Given the description of an element on the screen output the (x, y) to click on. 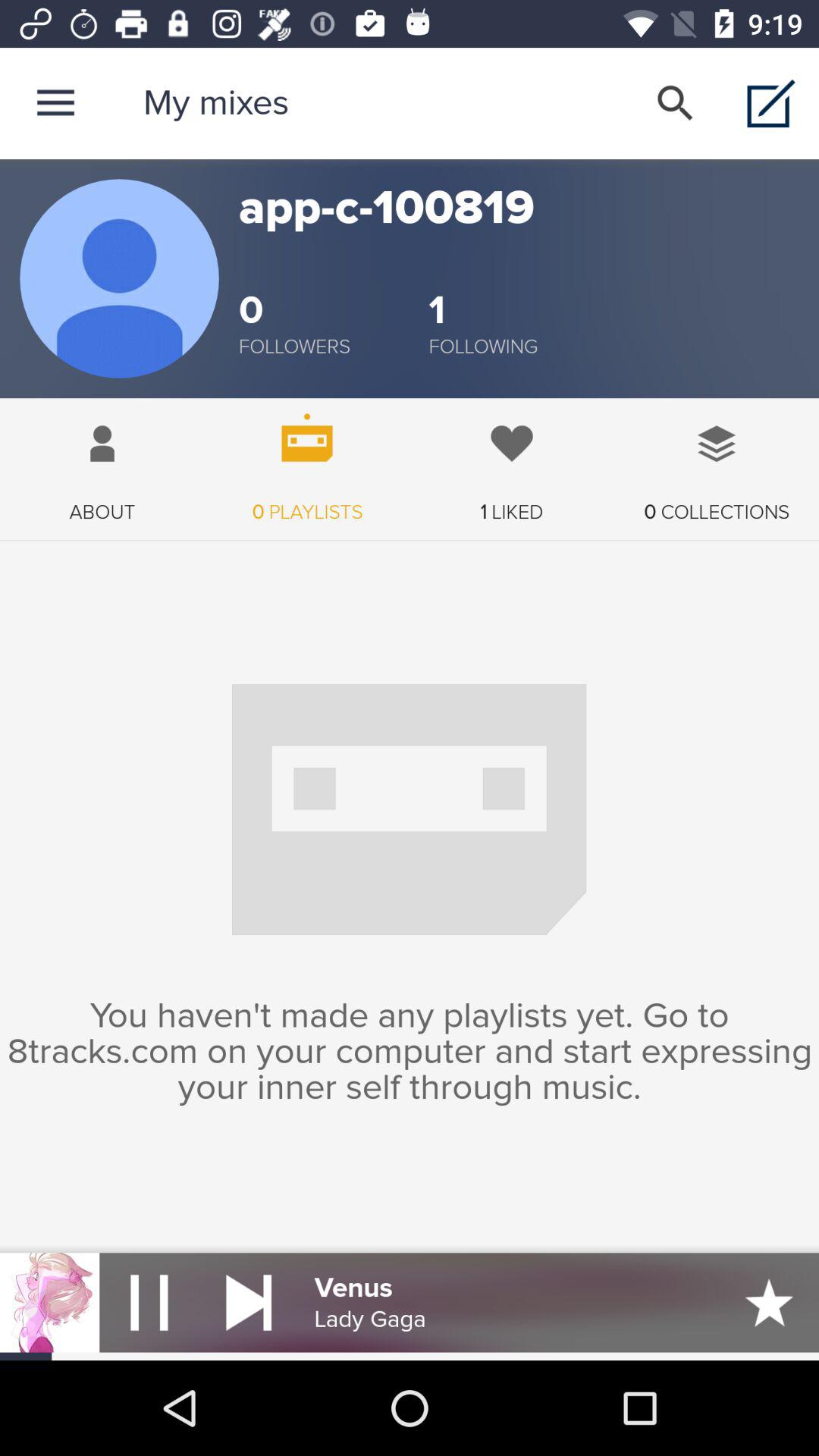
turn on icon below 0 item (483, 346)
